Given the description of an element on the screen output the (x, y) to click on. 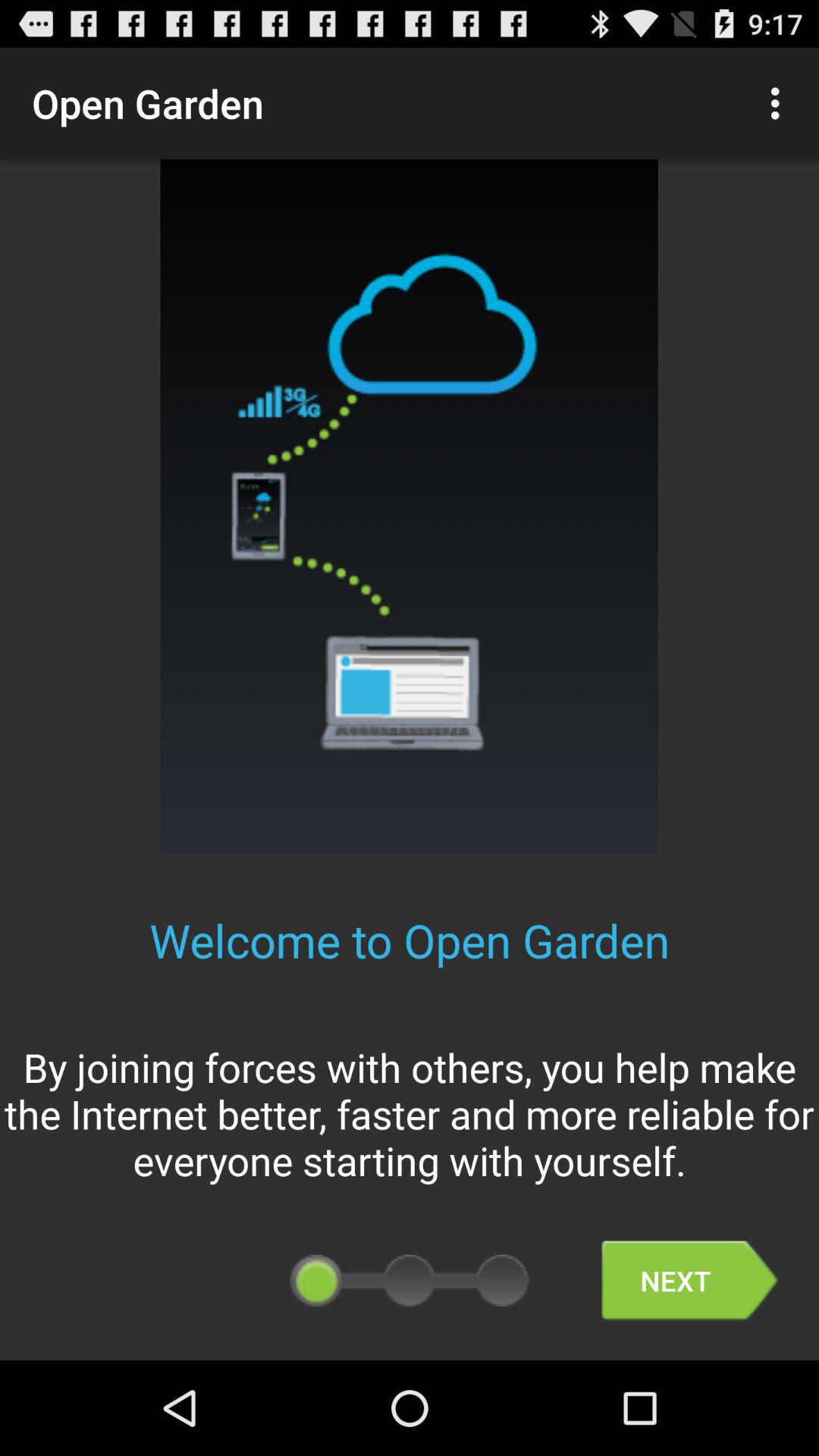
launch the next button (689, 1280)
